Given the description of an element on the screen output the (x, y) to click on. 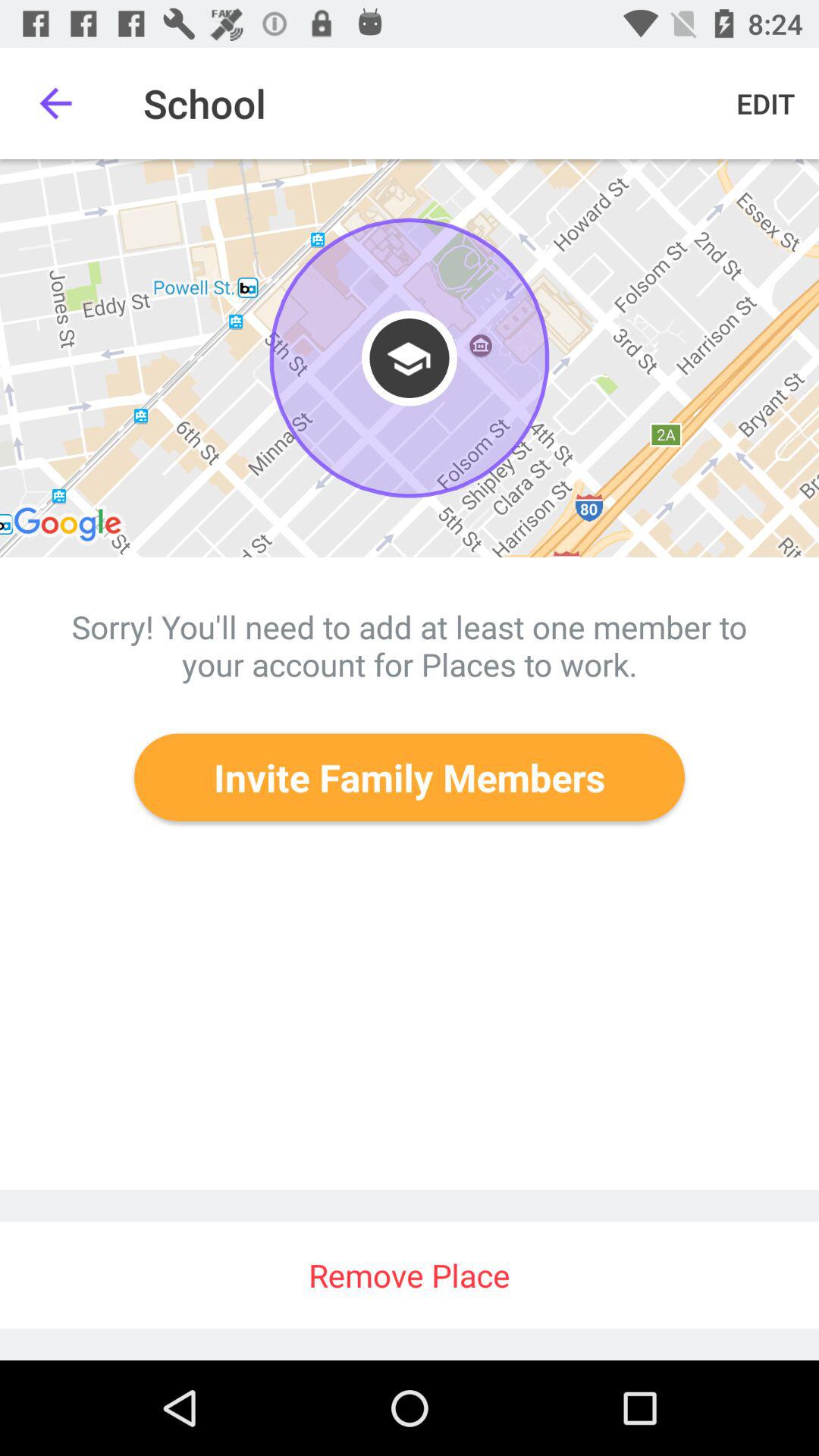
open the icon next to school (55, 103)
